Given the description of an element on the screen output the (x, y) to click on. 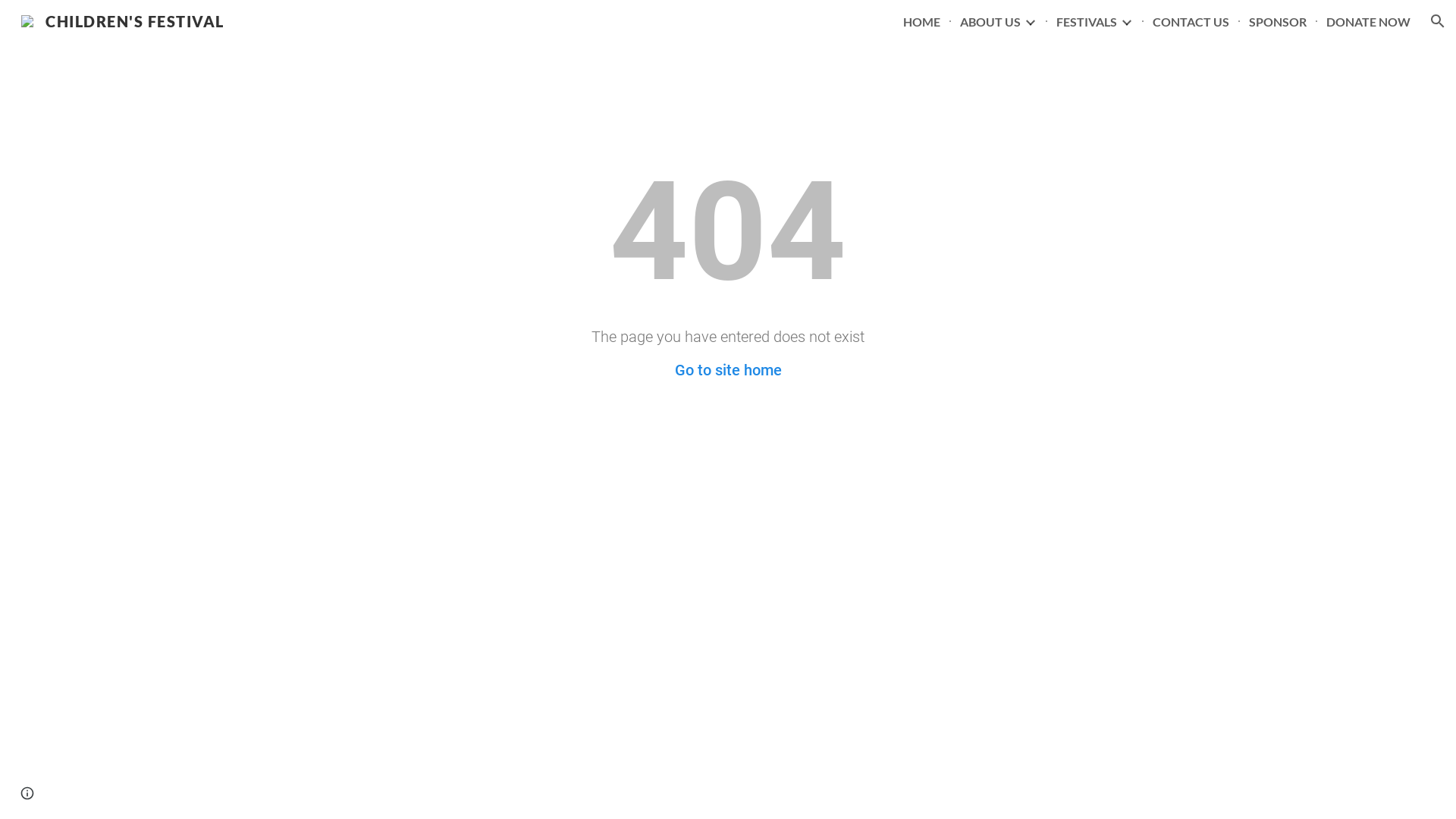
ABOUT US Element type: text (990, 20)
FESTIVALS Element type: text (1086, 20)
CHILDREN'S FESTIVAL Element type: text (122, 18)
CONTACT US Element type: text (1190, 20)
SPONSOR Element type: text (1277, 20)
Go to site home Element type: text (727, 369)
Expand/Collapse Element type: hover (1125, 20)
DONATE NOW Element type: text (1368, 20)
Expand/Collapse Element type: hover (1029, 20)
HOME Element type: text (921, 20)
